Given the description of an element on the screen output the (x, y) to click on. 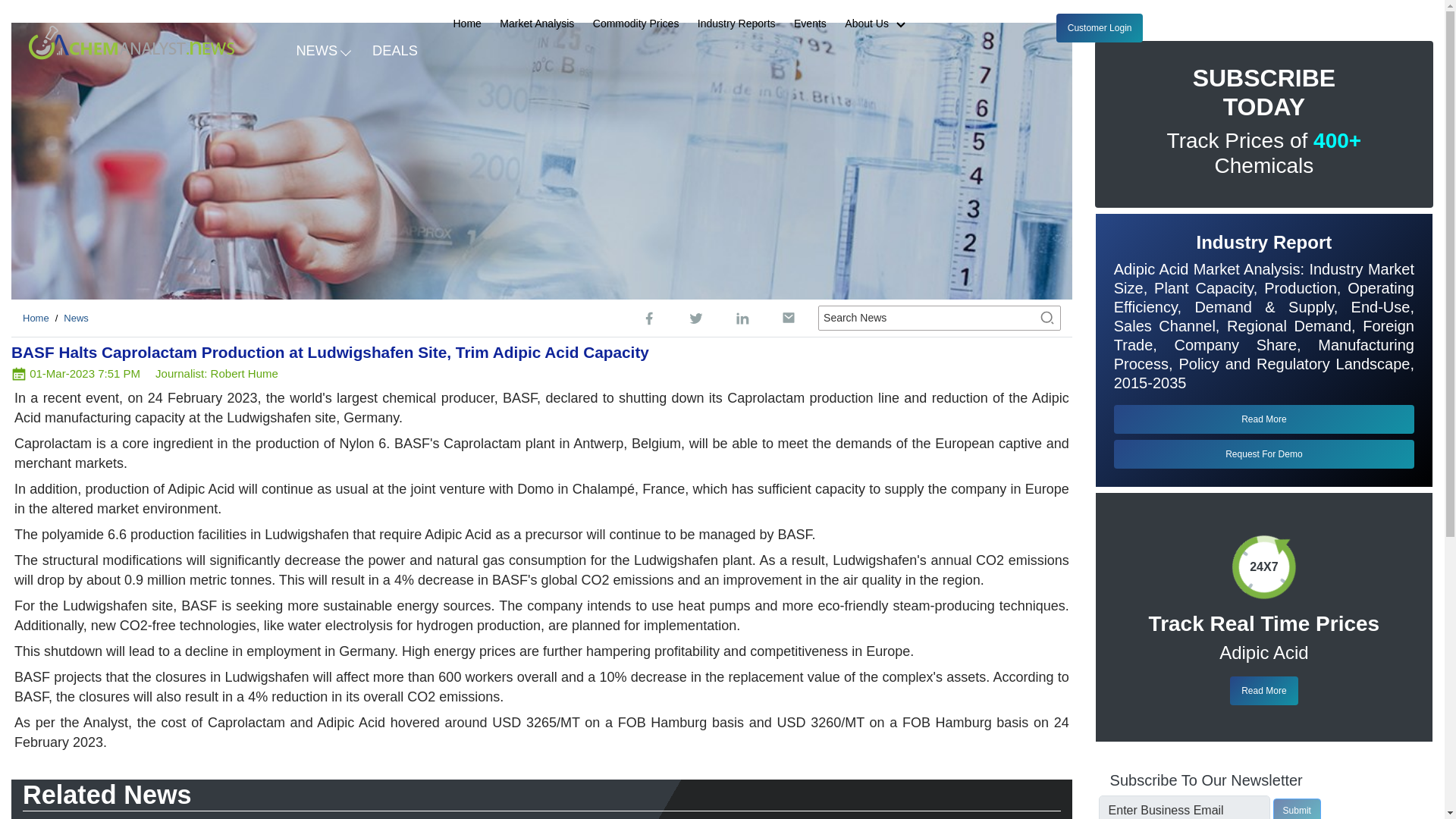
Home (36, 317)
Home (467, 23)
NEWS (322, 49)
About Us (880, 24)
Events (810, 23)
Industry Reports (736, 23)
DEALS (395, 49)
Commodity Prices (636, 23)
Submit (1296, 808)
Customer Login (1099, 27)
